Given the description of an element on the screen output the (x, y) to click on. 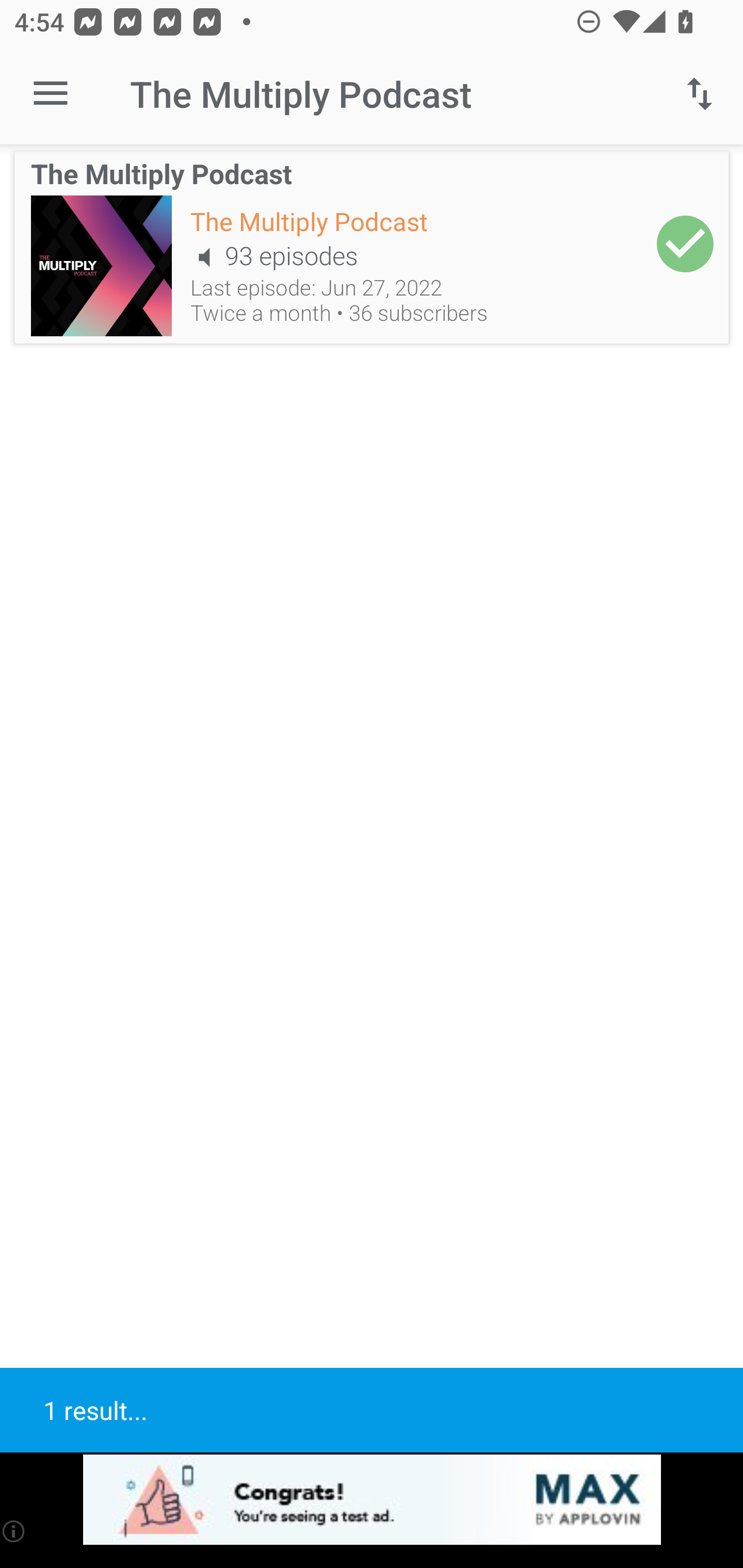
Open navigation sidebar (50, 93)
Sort (699, 93)
Add (684, 243)
app-monetization (371, 1500)
(i) (14, 1531)
